Given the description of an element on the screen output the (x, y) to click on. 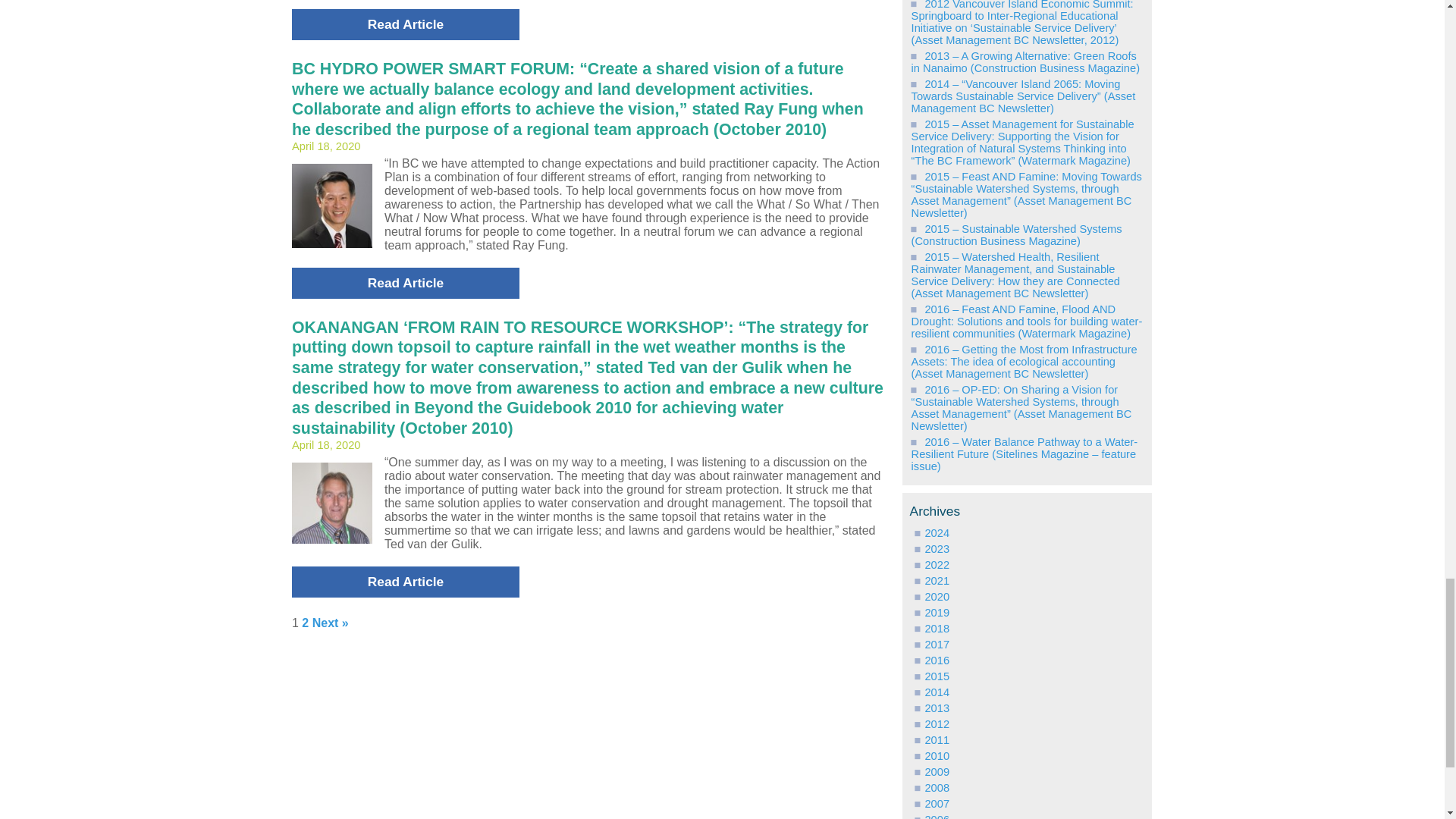
Read Article (405, 581)
Read Article (405, 24)
Read Article (405, 282)
